Given the description of an element on the screen output the (x, y) to click on. 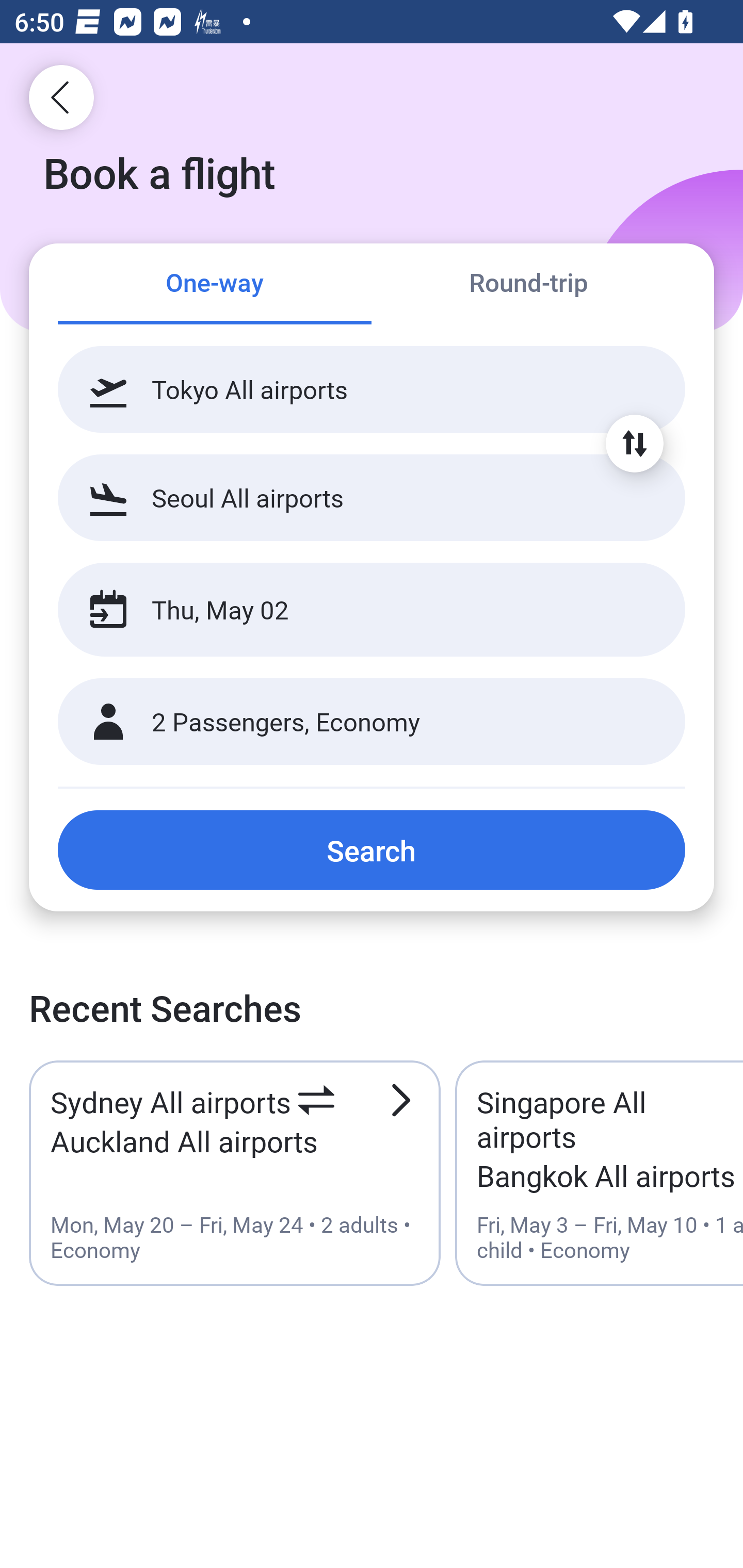
Round-trip (528, 284)
Tokyo All airports (371, 389)
Seoul All airports (371, 497)
Thu, May 02 (349, 609)
2 Passengers, Economy (371, 721)
Search (371, 849)
